Given the description of an element on the screen output the (x, y) to click on. 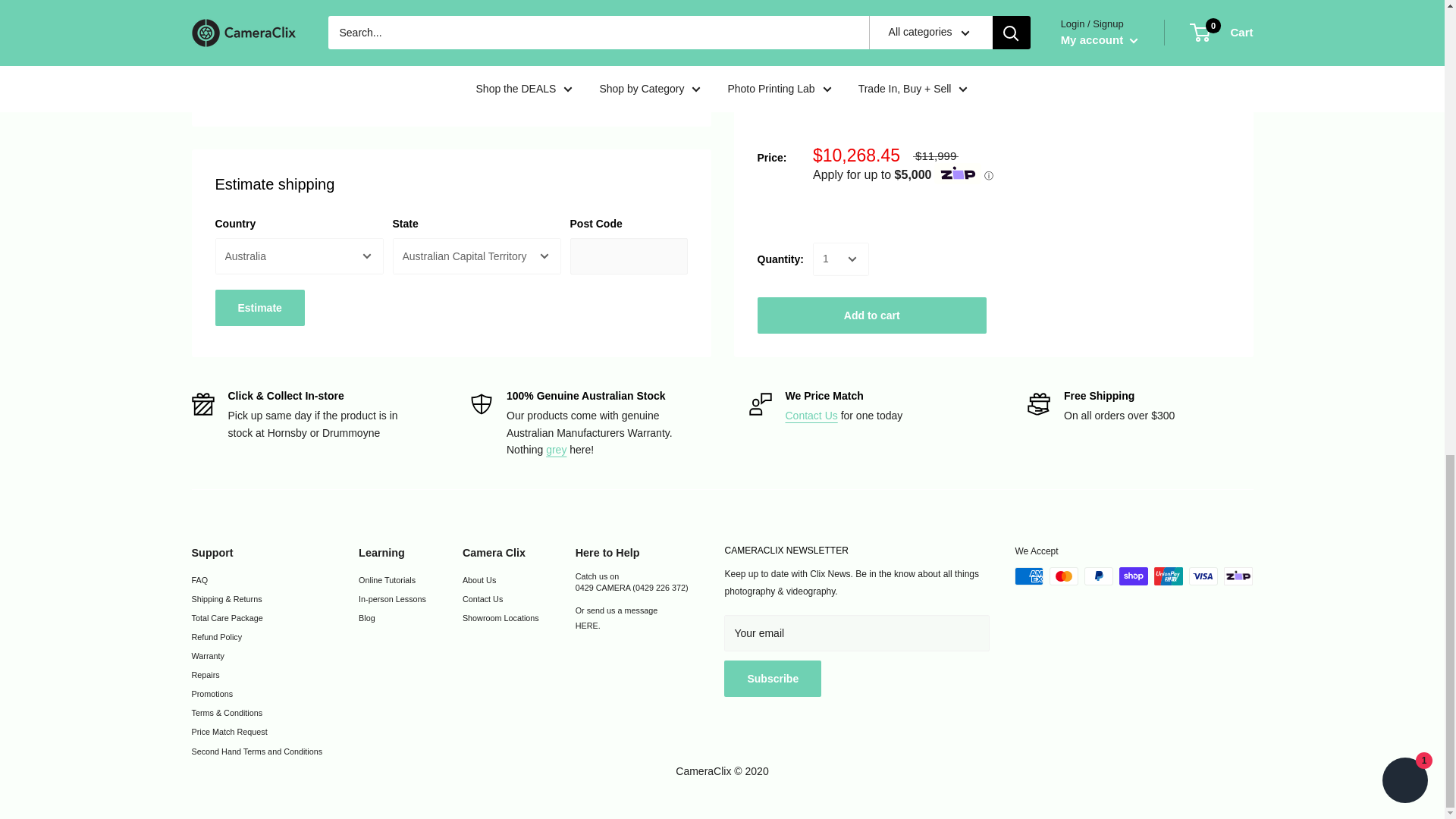
Contact Us (812, 415)
50 Shades of Grey (556, 449)
